Given the description of an element on the screen output the (x, y) to click on. 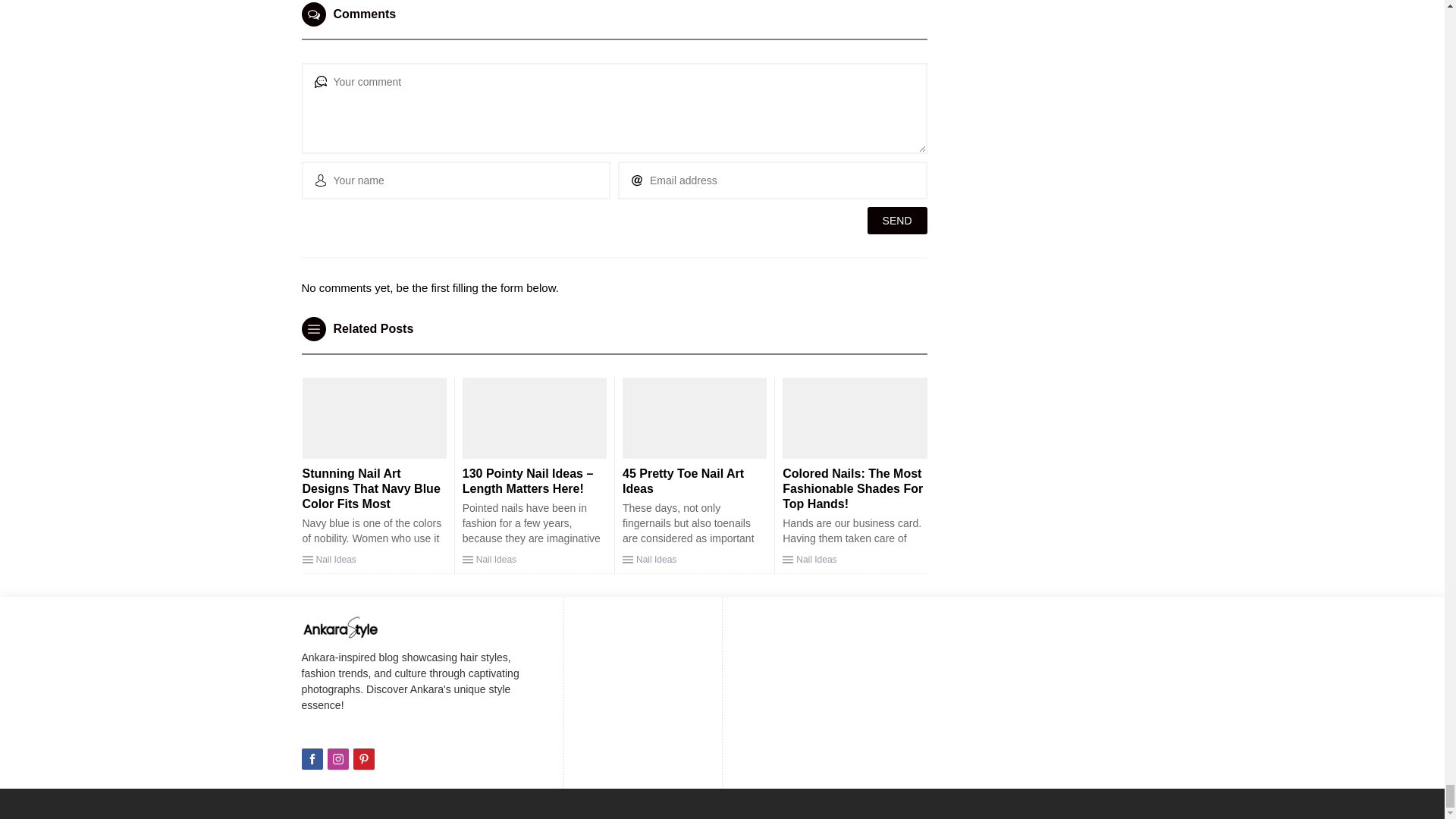
Pinterest (363, 758)
Send (897, 220)
Nail Ideas (335, 559)
Instagram (338, 758)
Fashion ideas (339, 626)
Facebook (312, 758)
Send (897, 220)
Stunning Nail Art Designs That Navy Blue Color Fits Most (370, 488)
